Given the description of an element on the screen output the (x, y) to click on. 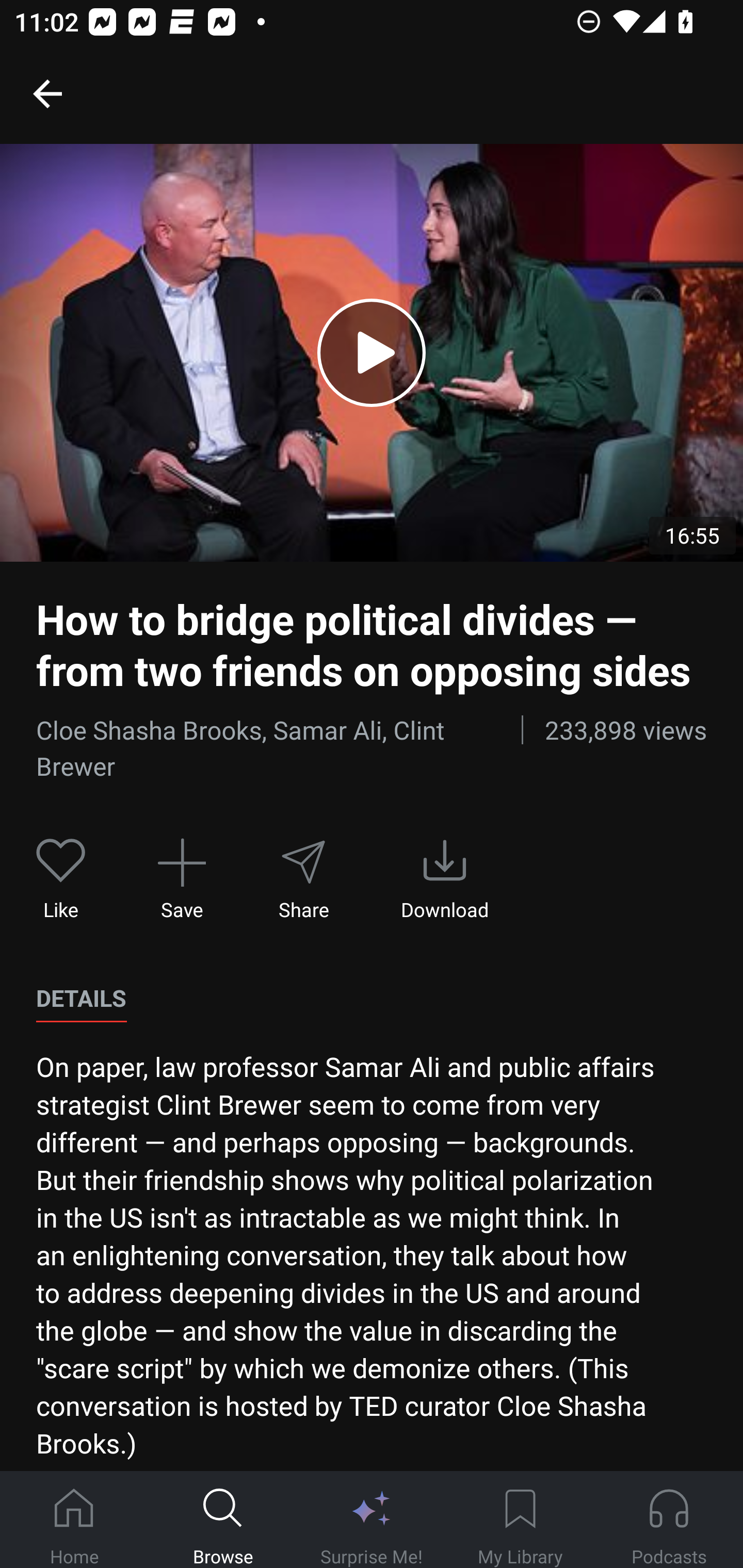
Search, back (47, 92)
Like (60, 879)
Save (181, 879)
Share (302, 879)
Download (444, 879)
DETAILS (80, 998)
Home (74, 1520)
Browse (222, 1520)
Surprise Me! (371, 1520)
My Library (519, 1520)
Podcasts (668, 1520)
